Given the description of an element on the screen output the (x, y) to click on. 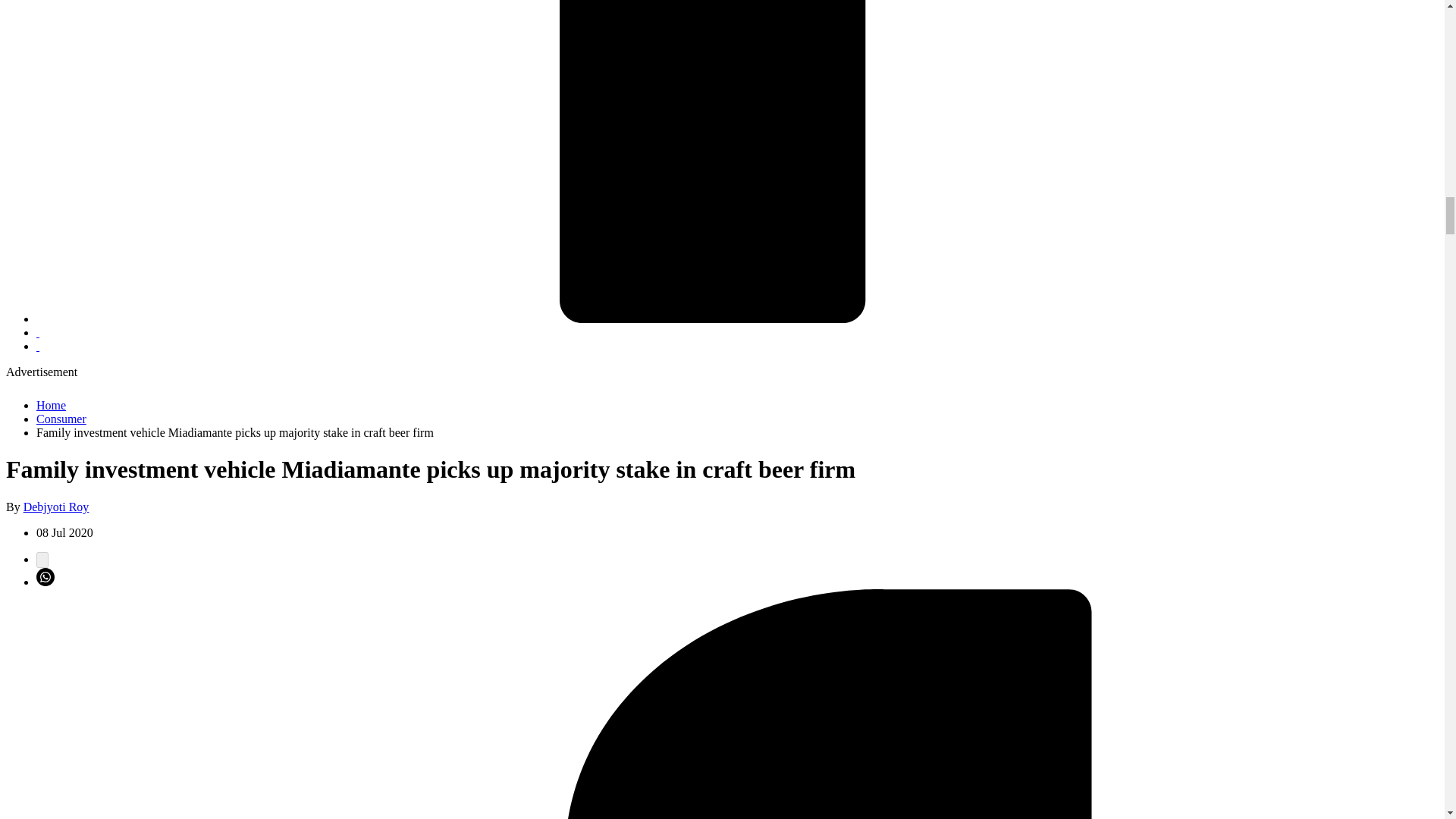
Home (50, 404)
Consumer (60, 418)
Debjyoti Roy (55, 506)
